Given the description of an element on the screen output the (x, y) to click on. 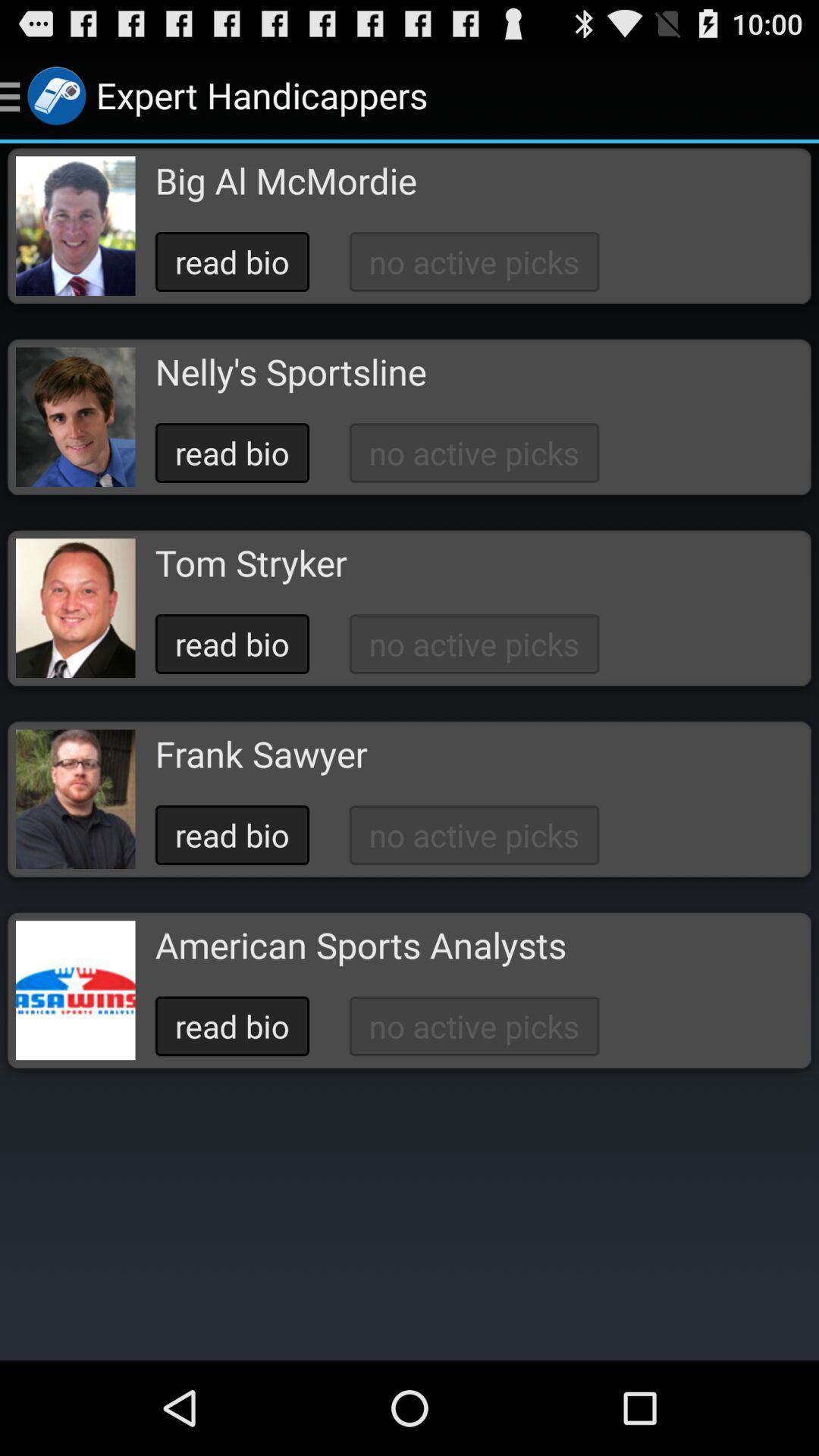
scroll until the american sports analysts icon (360, 944)
